Given the description of an element on the screen output the (x, y) to click on. 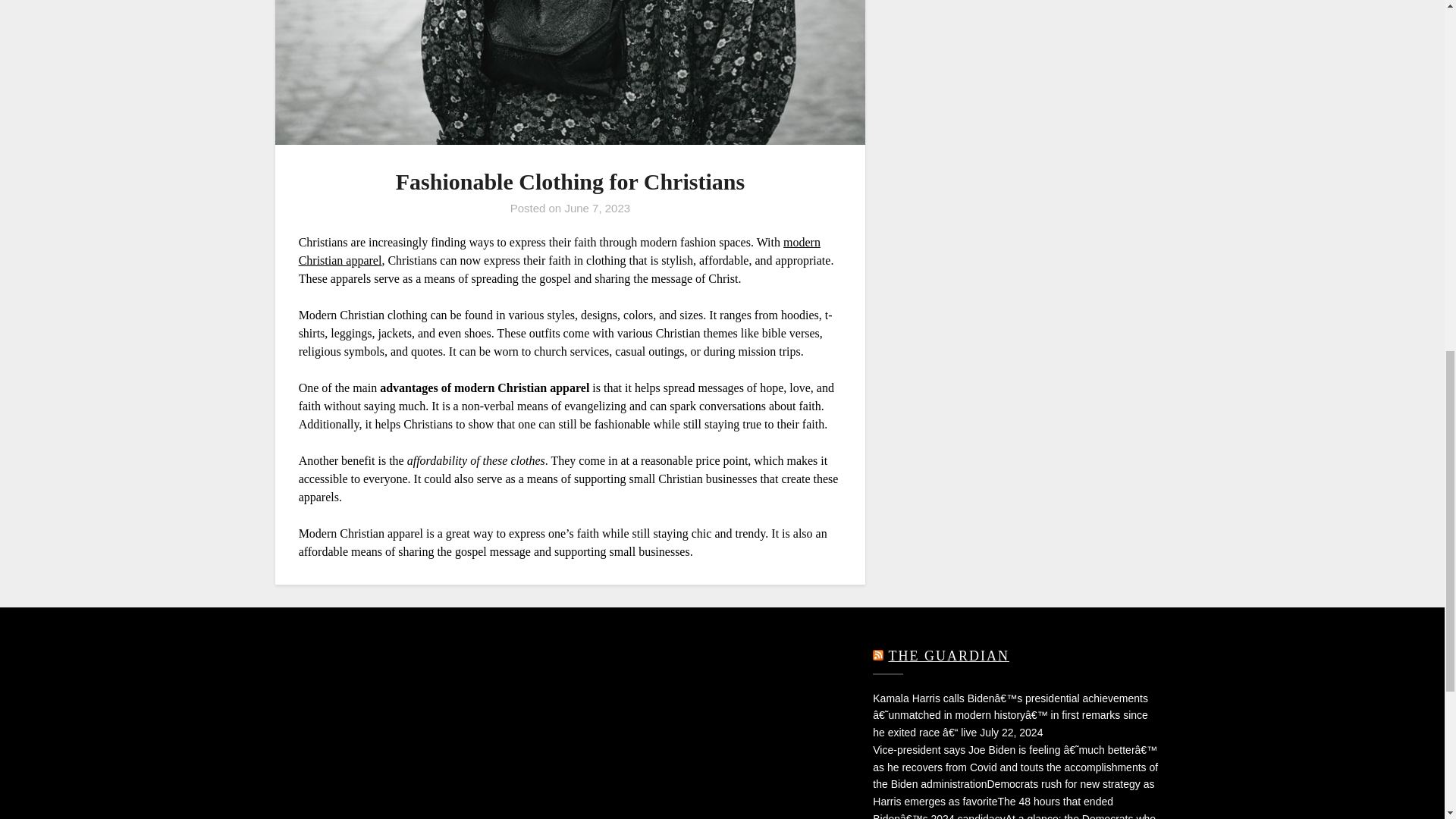
June 7, 2023 (597, 207)
THE GUARDIAN (948, 655)
modern Christian apparel (559, 250)
